Given the description of an element on the screen output the (x, y) to click on. 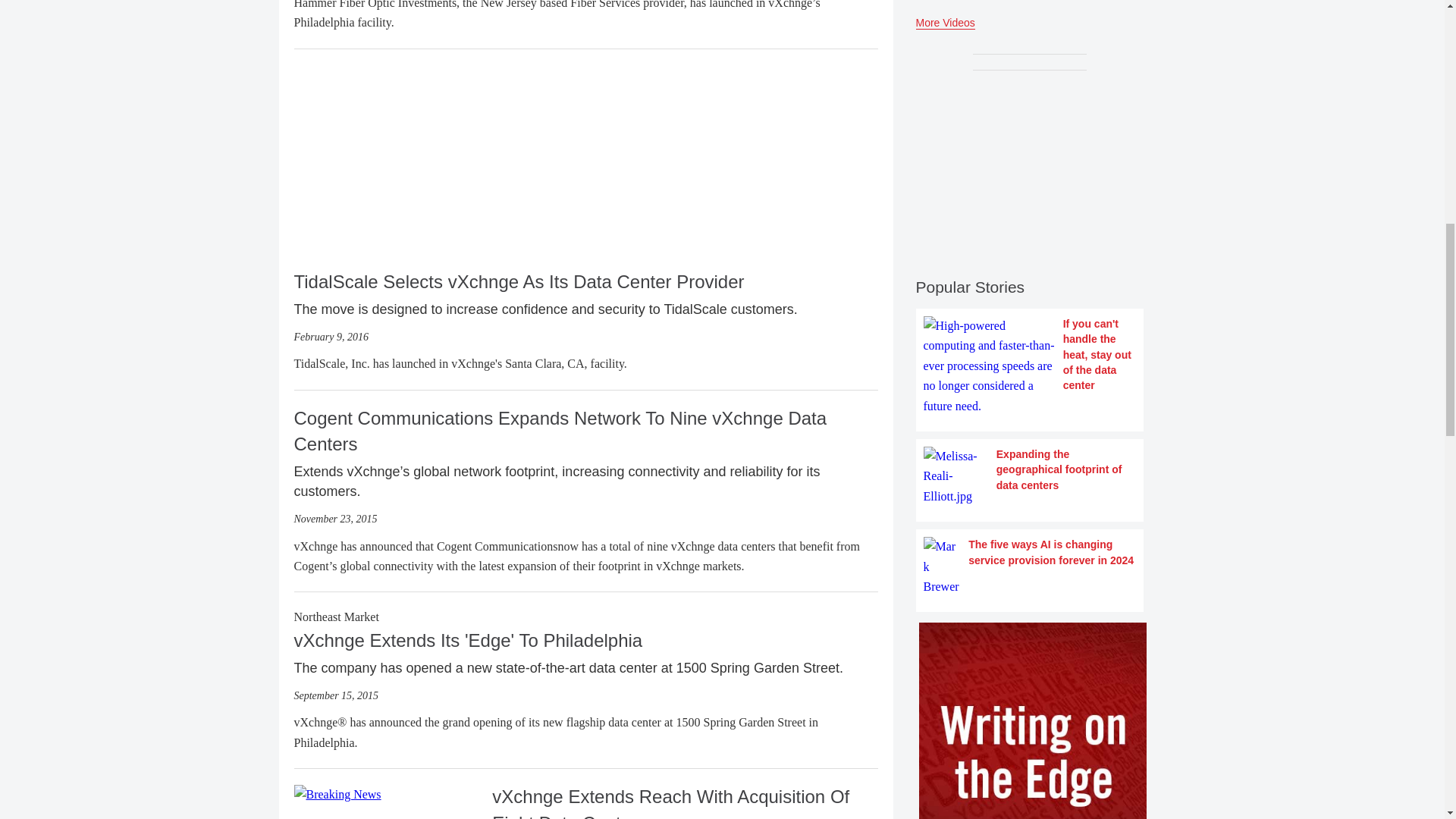
vXchnge Extends Reach With Acquisition Of Eight Data Centers (337, 793)
If you can't handle the heat, stay out of the data center (1029, 366)
Breaking News (337, 794)
